Given the description of an element on the screen output the (x, y) to click on. 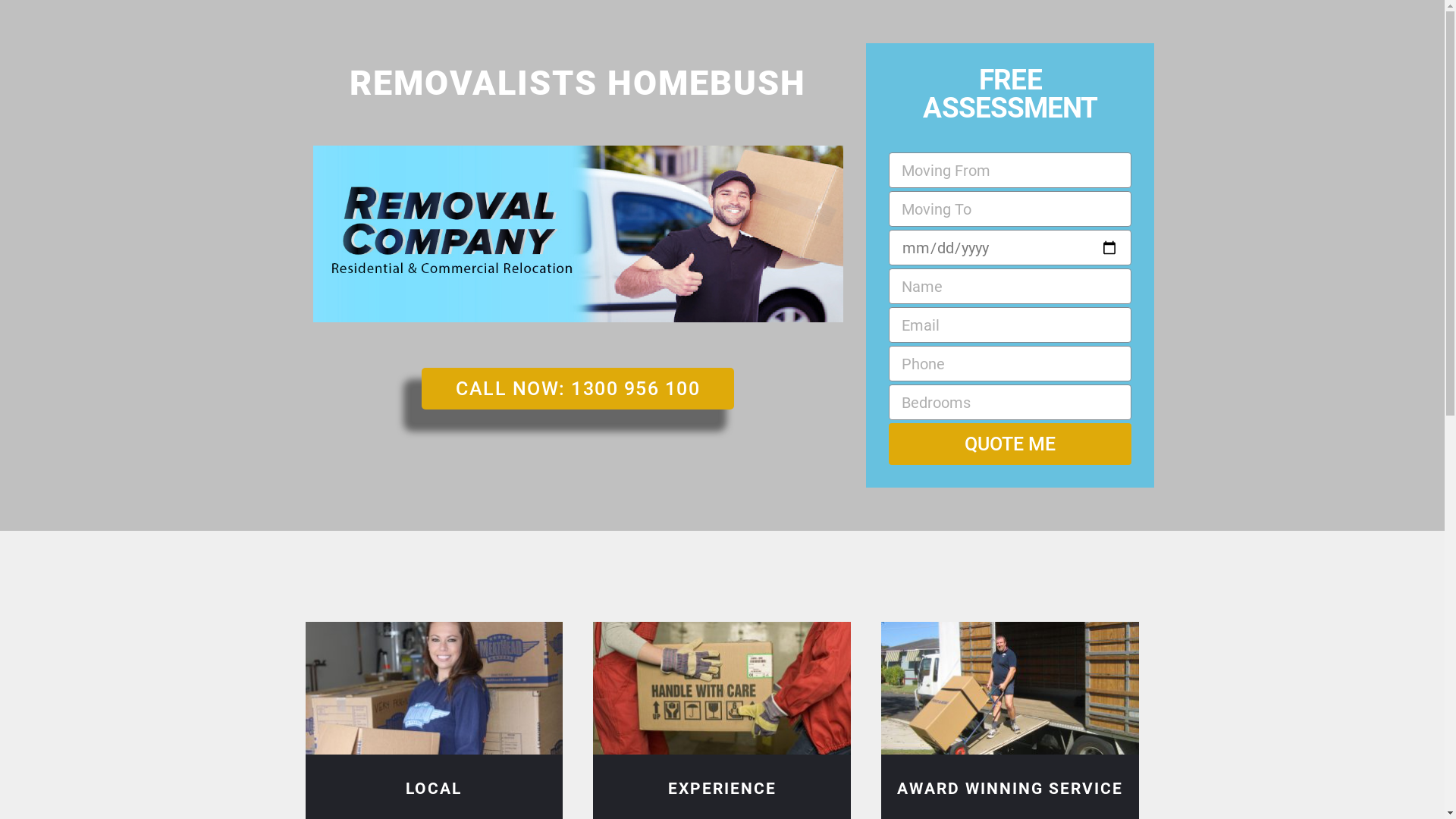
Local Removalists Homebush Element type: hover (433, 687)
Experienced Removalists in Homebush Element type: hover (721, 687)
Award Winning Homebush Removal Services Element type: hover (1010, 687)
QUOTE ME Element type: text (1009, 443)
CALL NOW: 1300 956 100 Element type: text (577, 388)
